Given the description of an element on the screen output the (x, y) to click on. 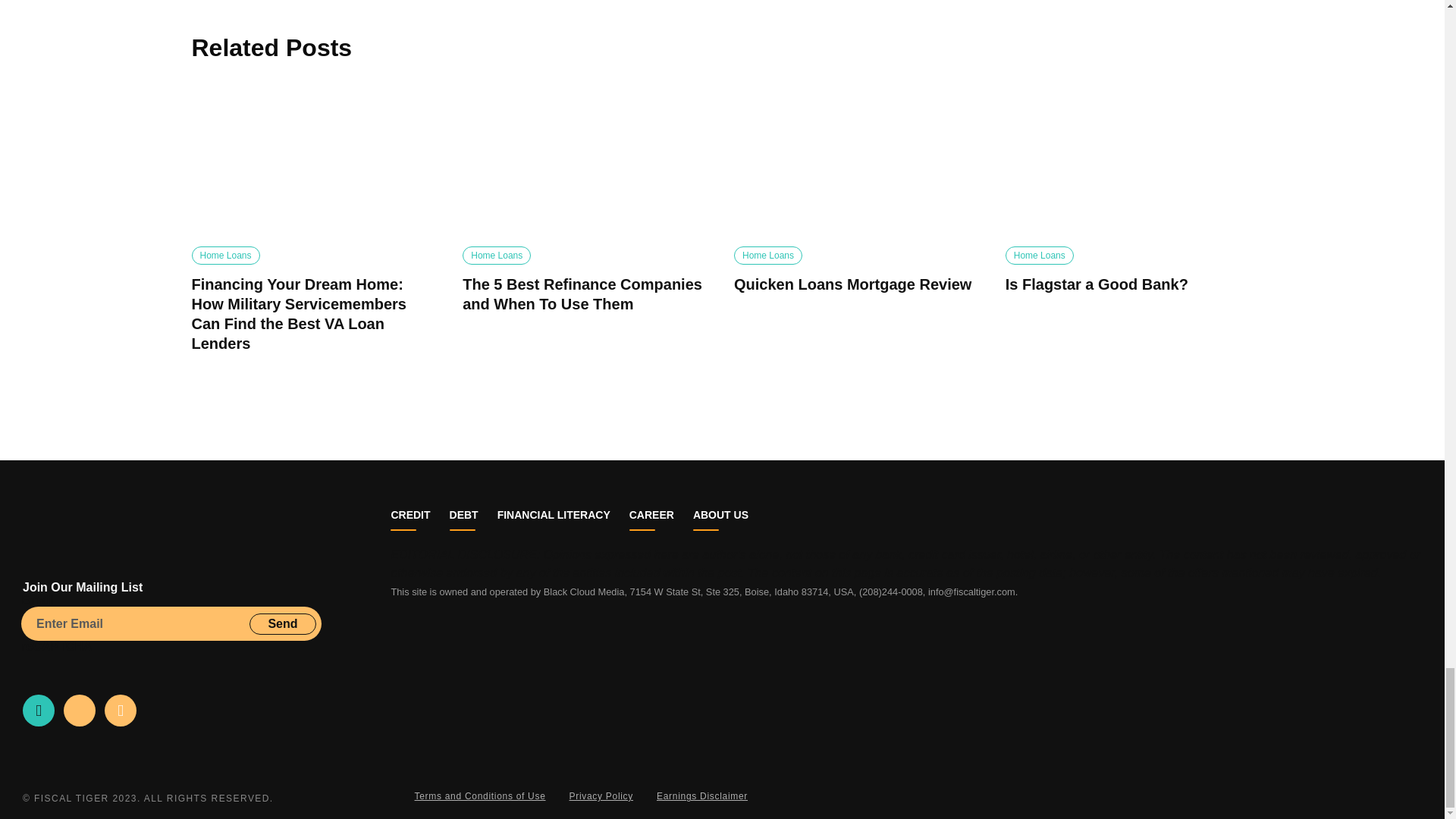
The 5 Best Refinance Companies and When To Use Them (586, 163)
Is Flagstar a Good Bank? (1129, 163)
Quicken Loans Mortgage Review (857, 163)
